Given the description of an element on the screen output the (x, y) to click on. 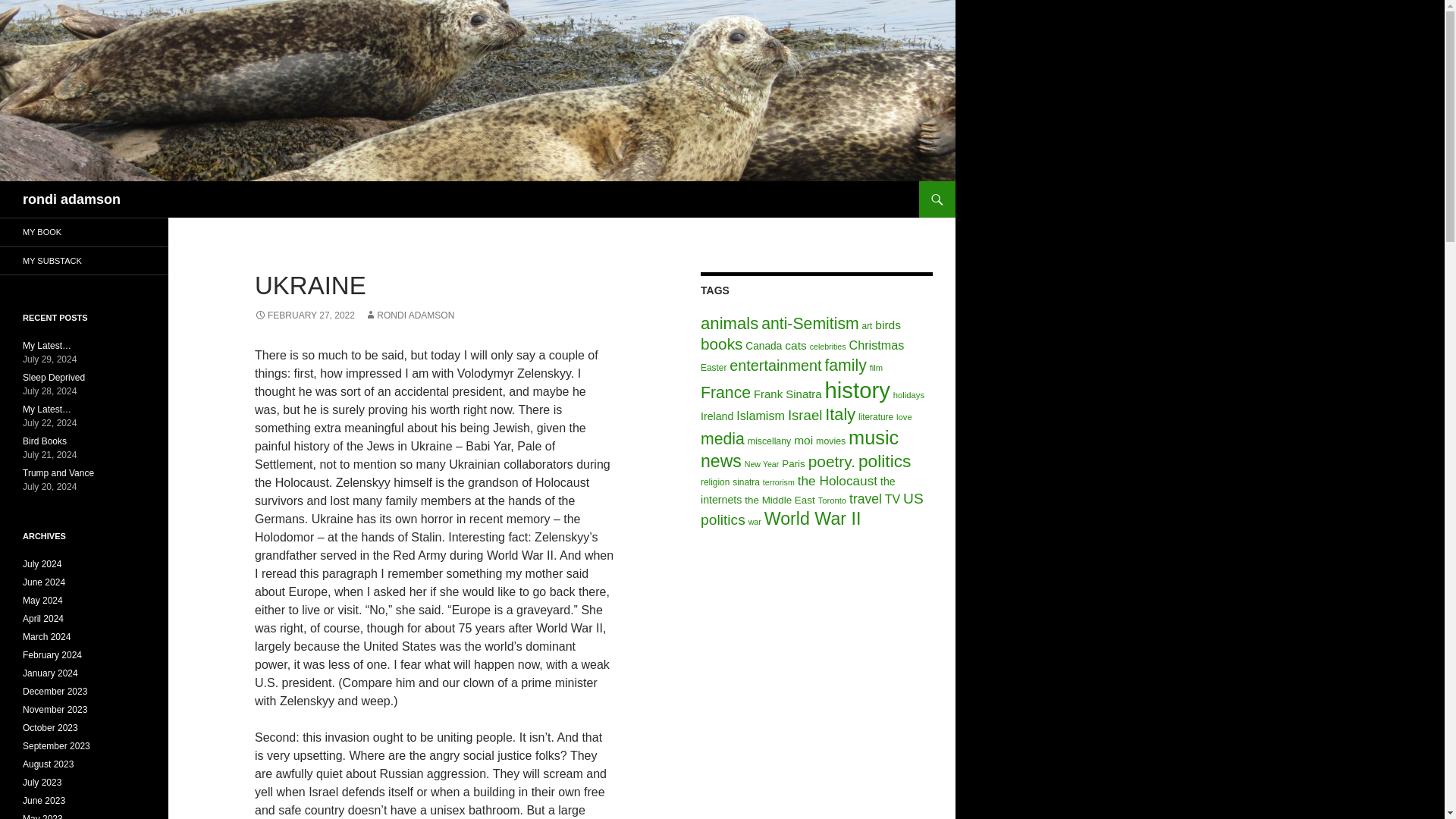
family (845, 364)
animals (729, 322)
birds (888, 324)
holidays (908, 394)
cats (795, 345)
celebrities (827, 346)
Frank Sinatra (788, 393)
rondi adamson (71, 198)
France (725, 392)
